Given the description of an element on the screen output the (x, y) to click on. 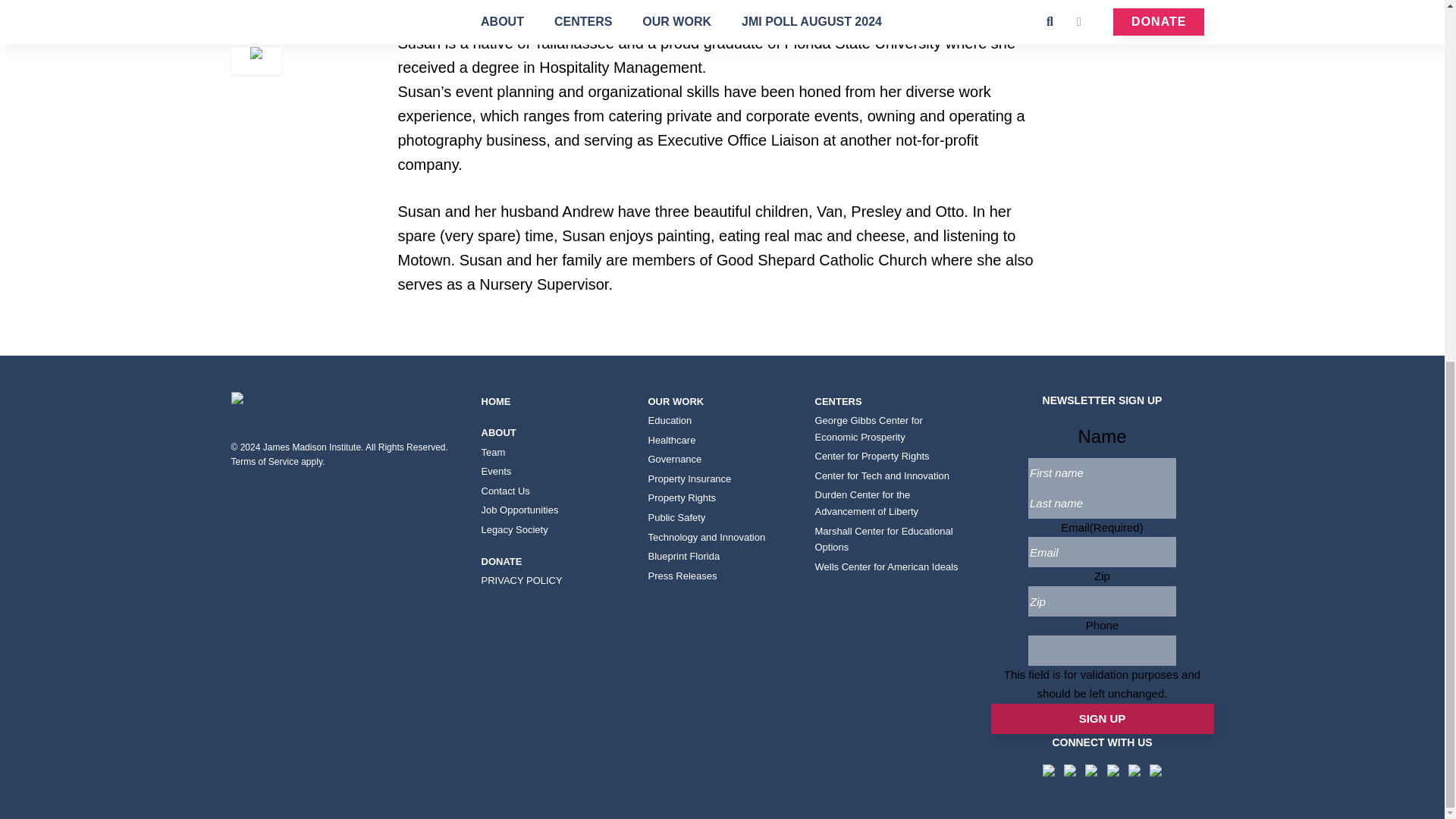
Events (554, 471)
DONATE (554, 561)
Team (554, 452)
Contact Us (554, 491)
HOME (554, 401)
ABOUT (554, 433)
SIGN UP (1101, 718)
Legacy Society (554, 529)
Job Opportunities (554, 510)
PRIVACY POLICY (554, 580)
